Given the description of an element on the screen output the (x, y) to click on. 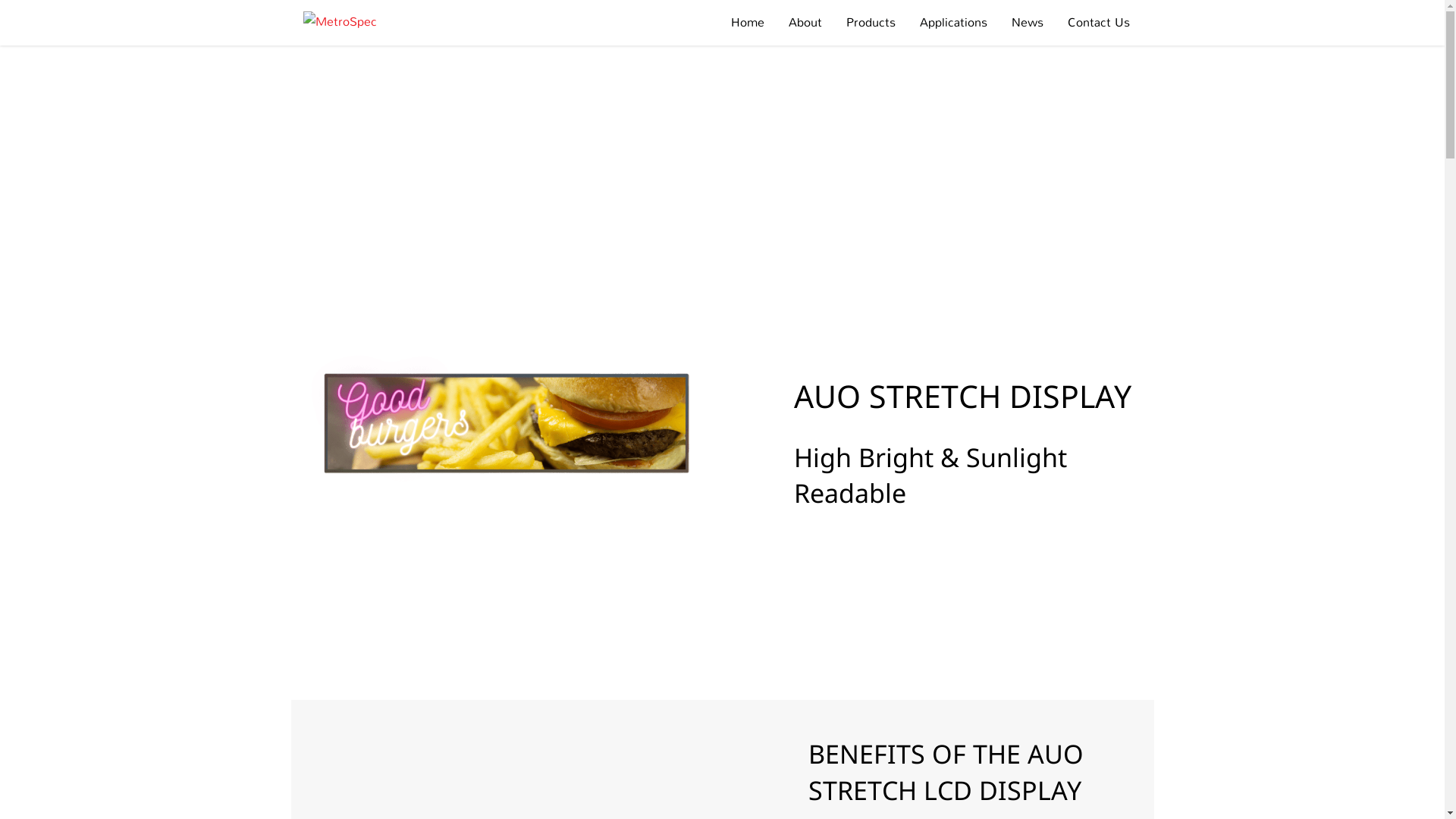
Products Element type: text (870, 22)
Contact Us Element type: text (1098, 22)
About Element type: text (805, 22)
MetroSpec Element type: hover (339, 22)
News Element type: text (1027, 22)
Home Element type: text (747, 22)
Applications Element type: text (952, 22)
auo fhd commercial display image Element type: hover (506, 435)
